Given the description of an element on the screen output the (x, y) to click on. 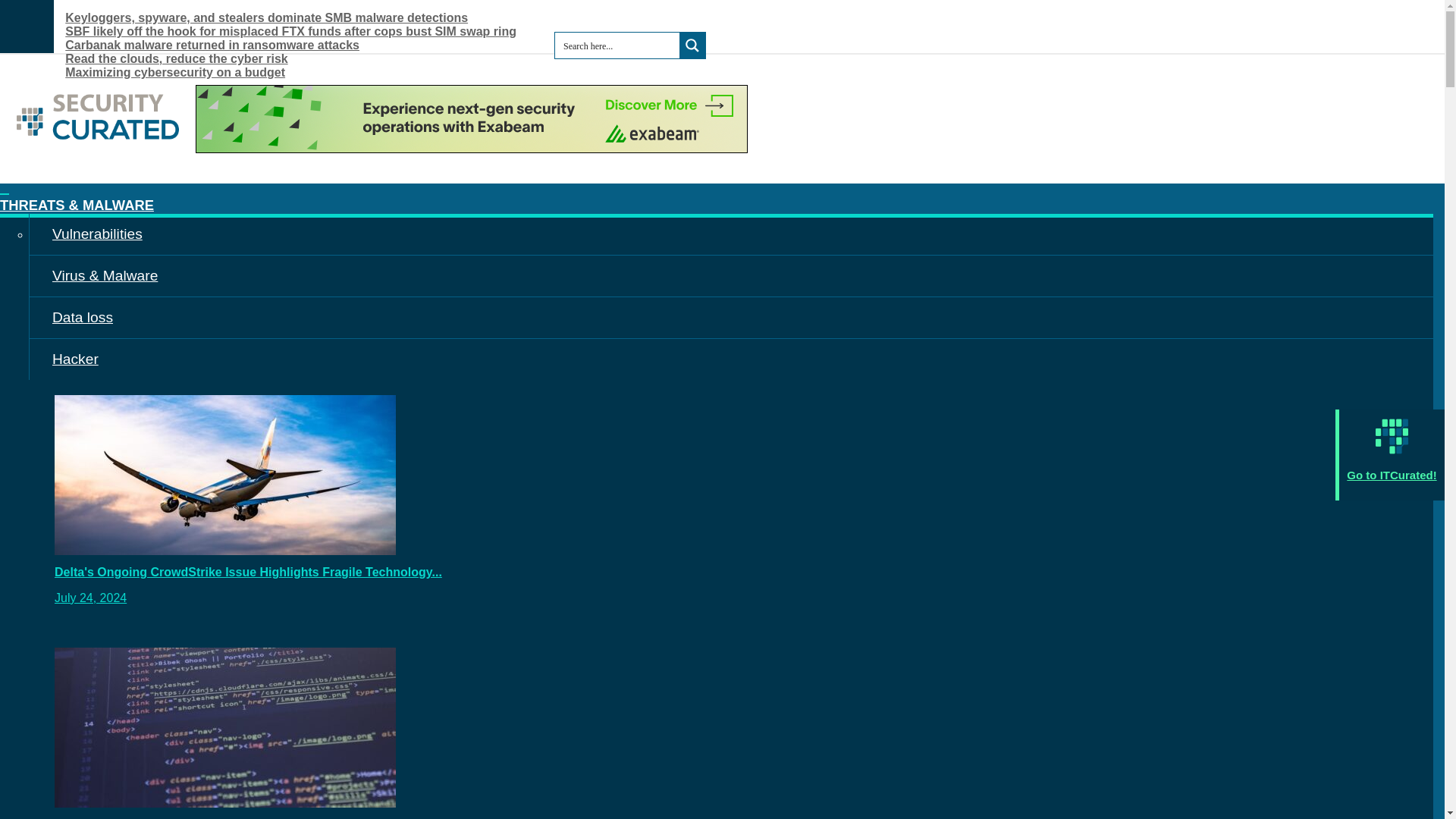
Read the clouds, reduce the cyber risk (194, 59)
Carbanak malware returned in ransomware attacks (231, 45)
Security Curated (97, 139)
Maximizing cybersecurity on a budget (194, 72)
